Given the description of an element on the screen output the (x, y) to click on. 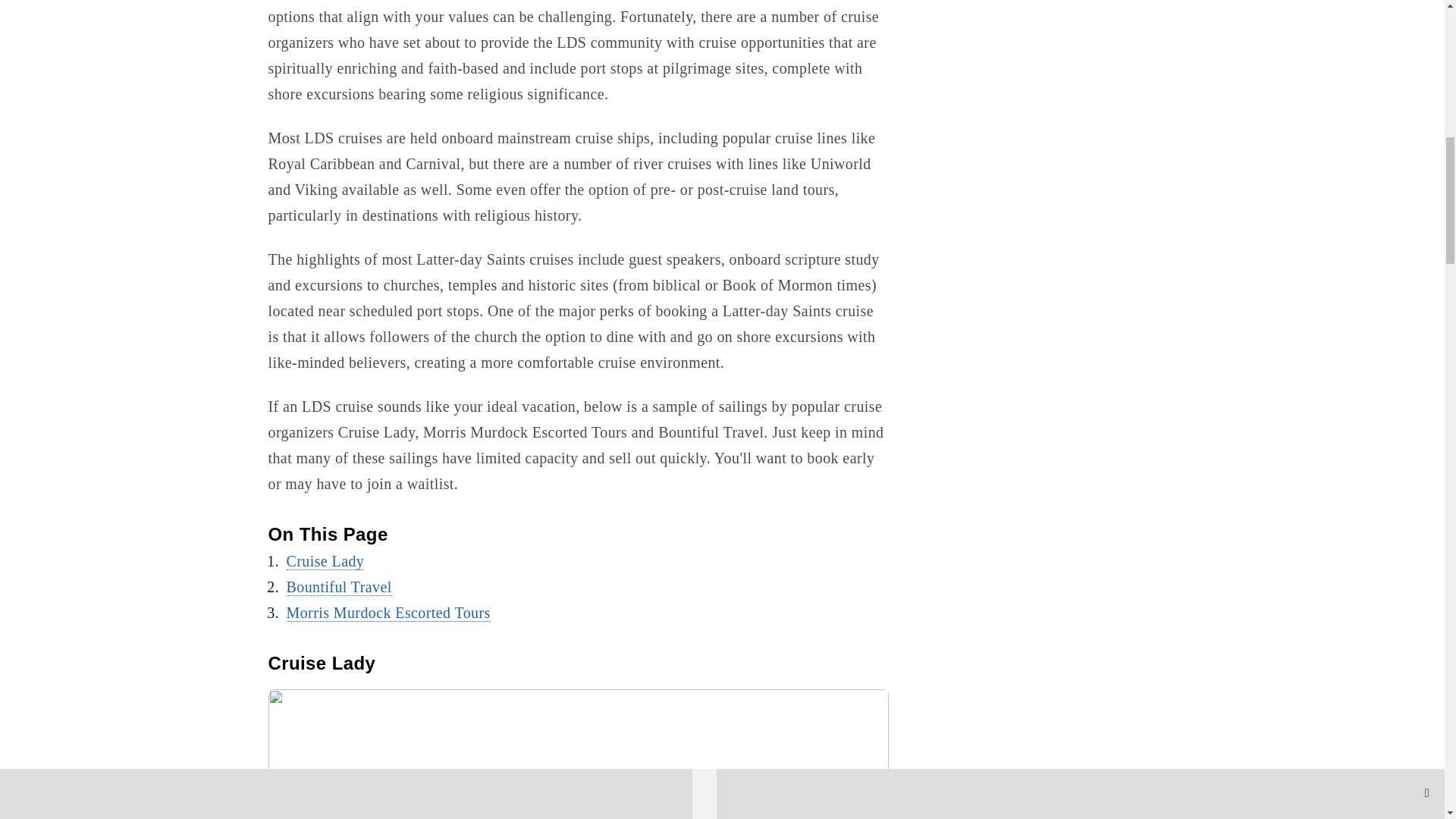
Cruise Lady (325, 561)
Morris Murdock Escorted Tours (388, 612)
Bountiful Travel (338, 587)
